Given the description of an element on the screen output the (x, y) to click on. 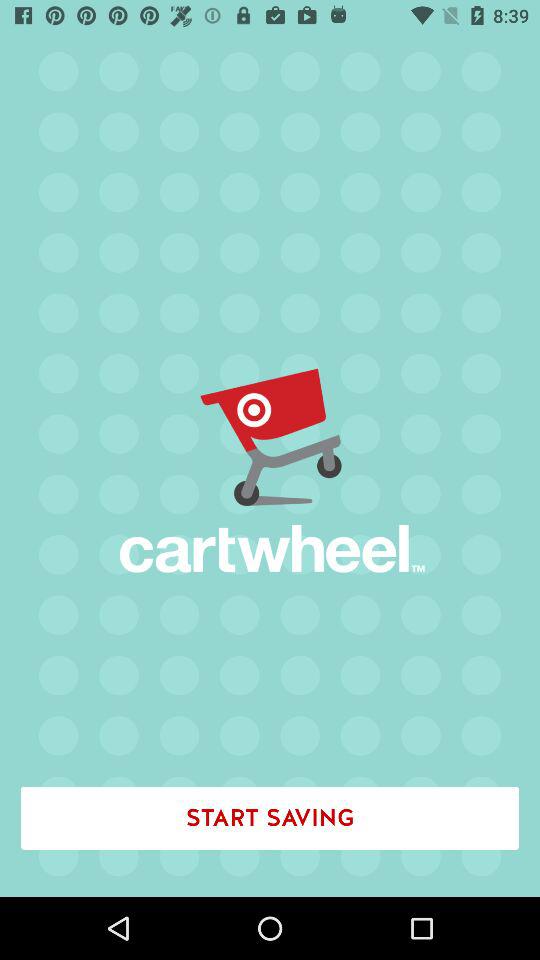
scroll until start saving item (270, 817)
